Given the description of an element on the screen output the (x, y) to click on. 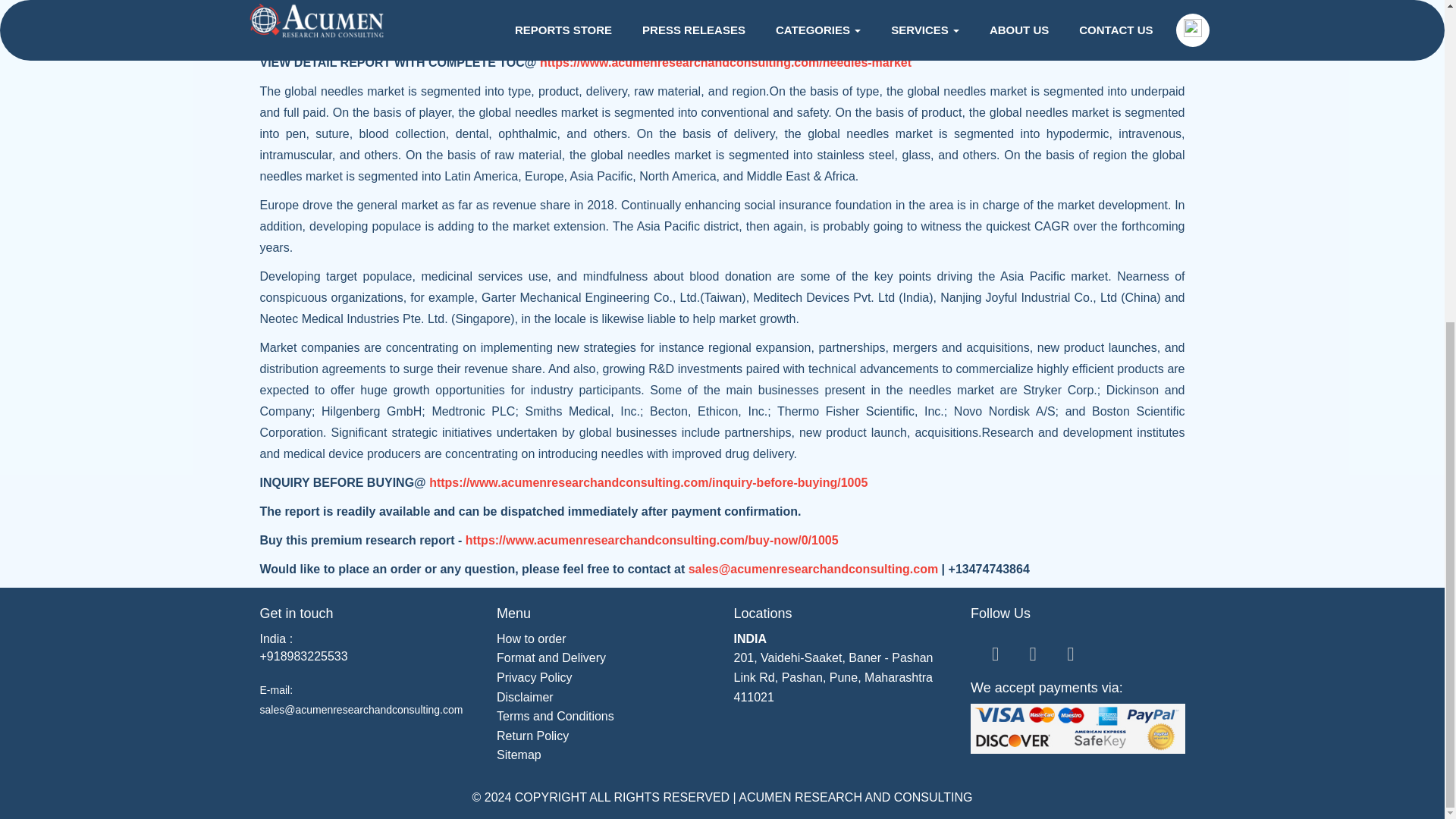
Privacy Policy (534, 676)
Format and Delivery (550, 657)
Disclaimer (524, 697)
How to order (531, 638)
Terms and Conditions (555, 716)
